Given the description of an element on the screen output the (x, y) to click on. 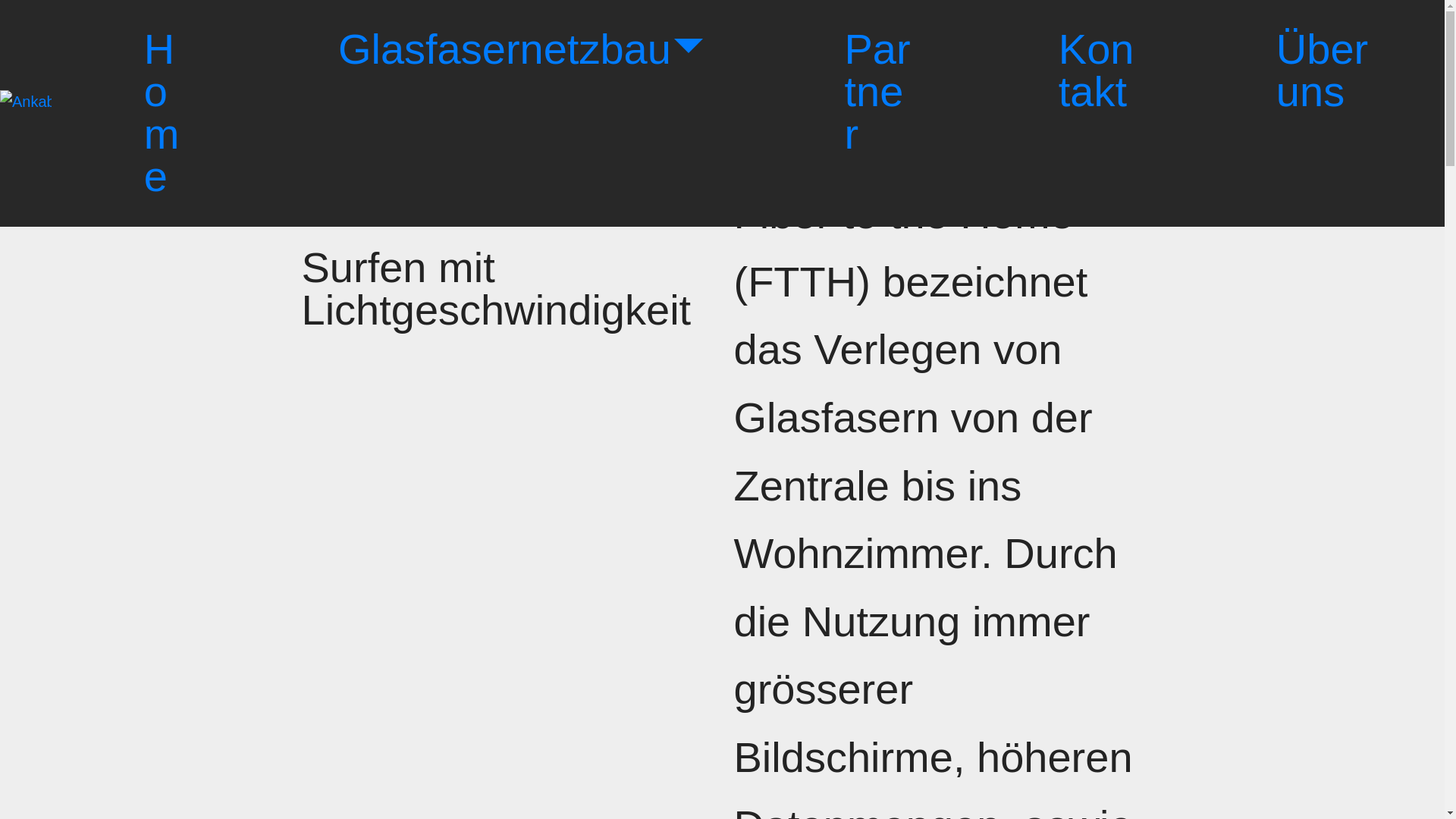
Kontakt Element type: text (1095, 70)
Glasfasernetzbau Element type: text (520, 49)
Home Element type: text (169, 113)
Partner Element type: text (880, 92)
